Given the description of an element on the screen output the (x, y) to click on. 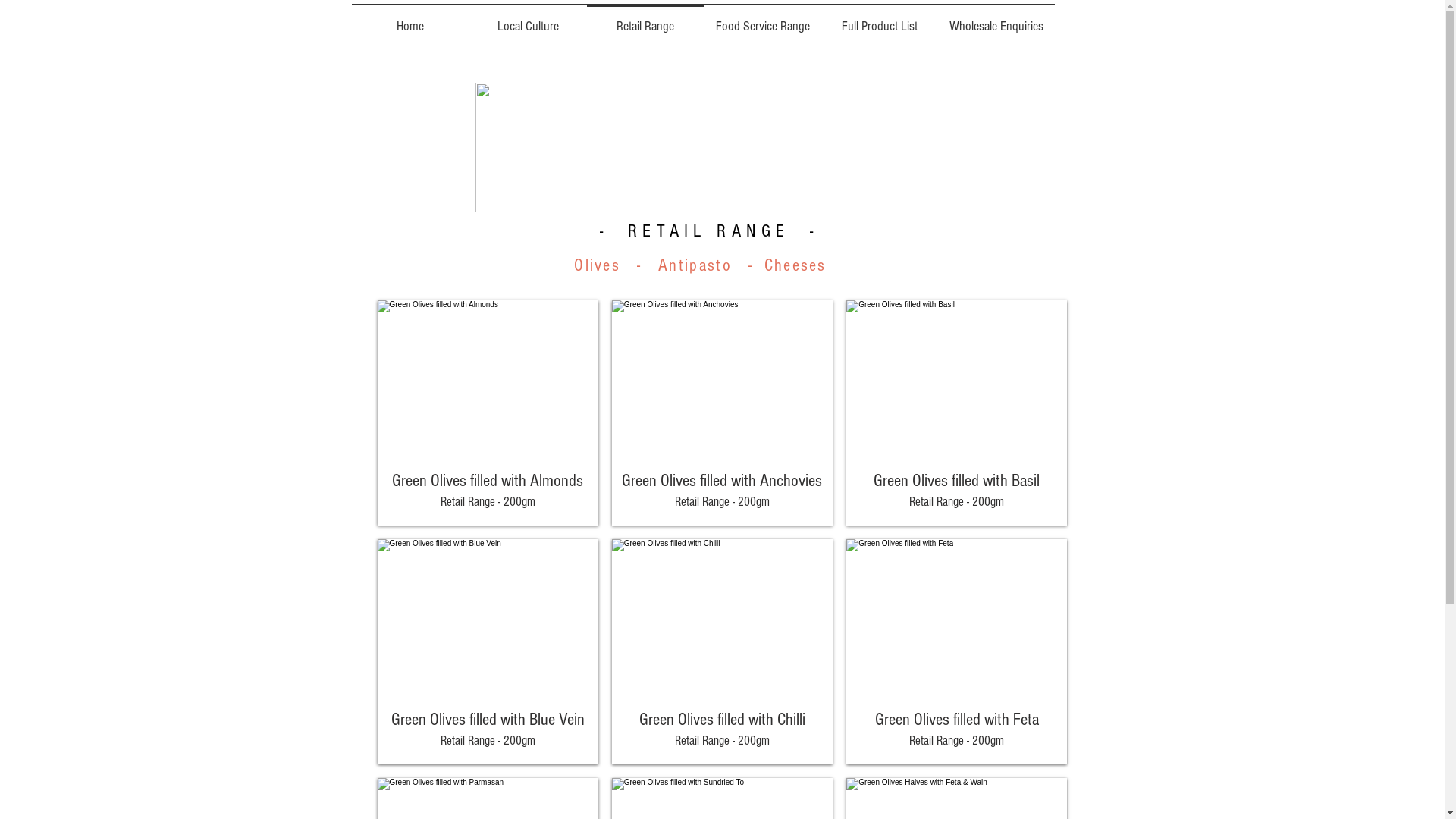
Full Product List Element type: text (878, 19)
Home Element type: text (410, 19)
Wholesale Enquiries Element type: text (995, 19)
Local Culture Element type: text (527, 19)
Food Service Range Element type: text (761, 19)
Retail Range Element type: text (645, 19)
